Given the description of an element on the screen output the (x, y) to click on. 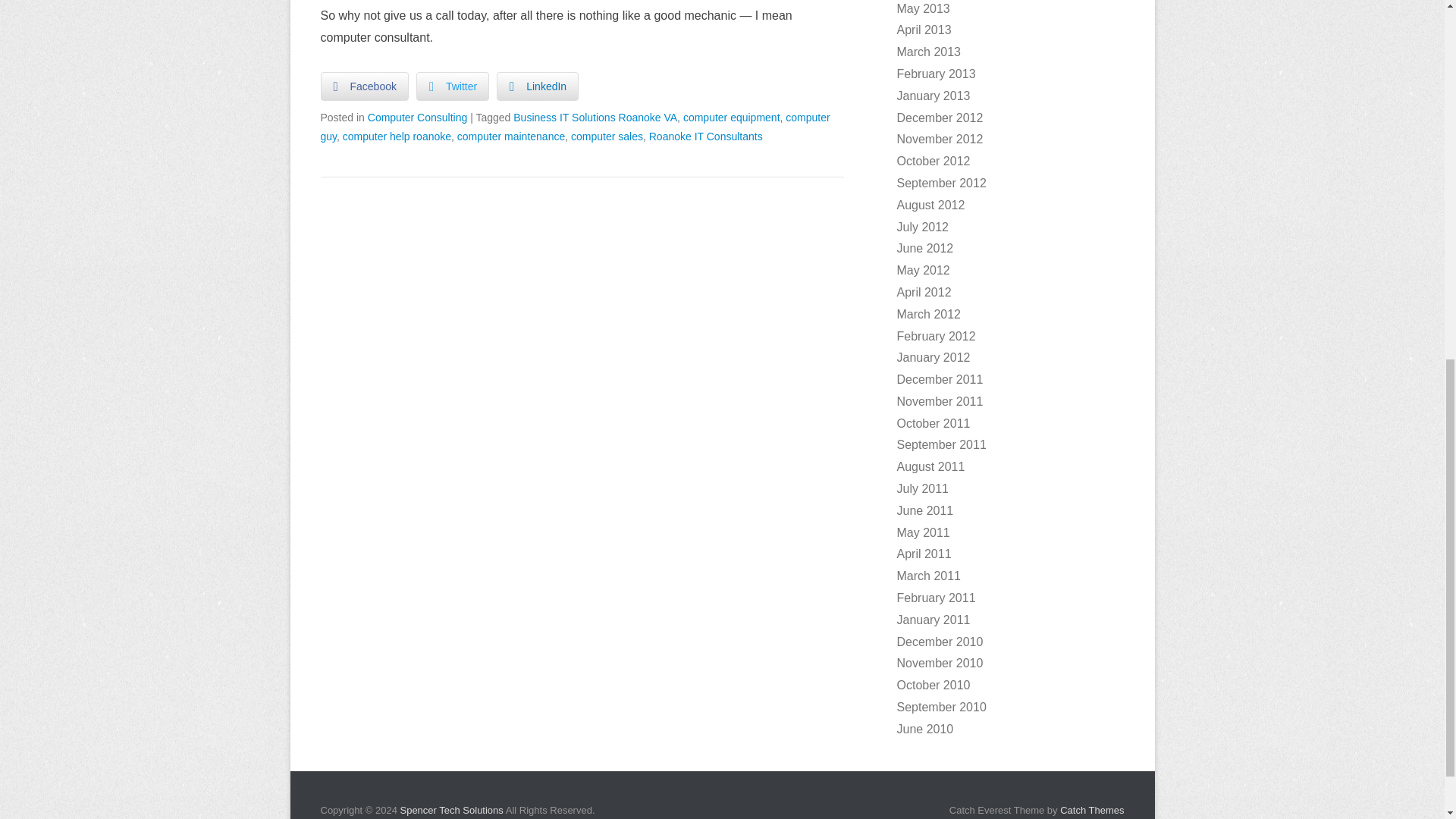
computer help roanoke (396, 136)
Business IT Solutions Roanoke VA (595, 117)
Computer Consulting (417, 117)
computer sales (606, 136)
computer equipment (731, 117)
computer maintenance (510, 136)
LinkedIn (537, 86)
Facebook (363, 86)
Twitter (452, 86)
computer guy (574, 126)
Roanoke IT Consultants (705, 136)
Spencer Tech Solutions (450, 809)
Catch Themes (1091, 809)
